Given the description of an element on the screen output the (x, y) to click on. 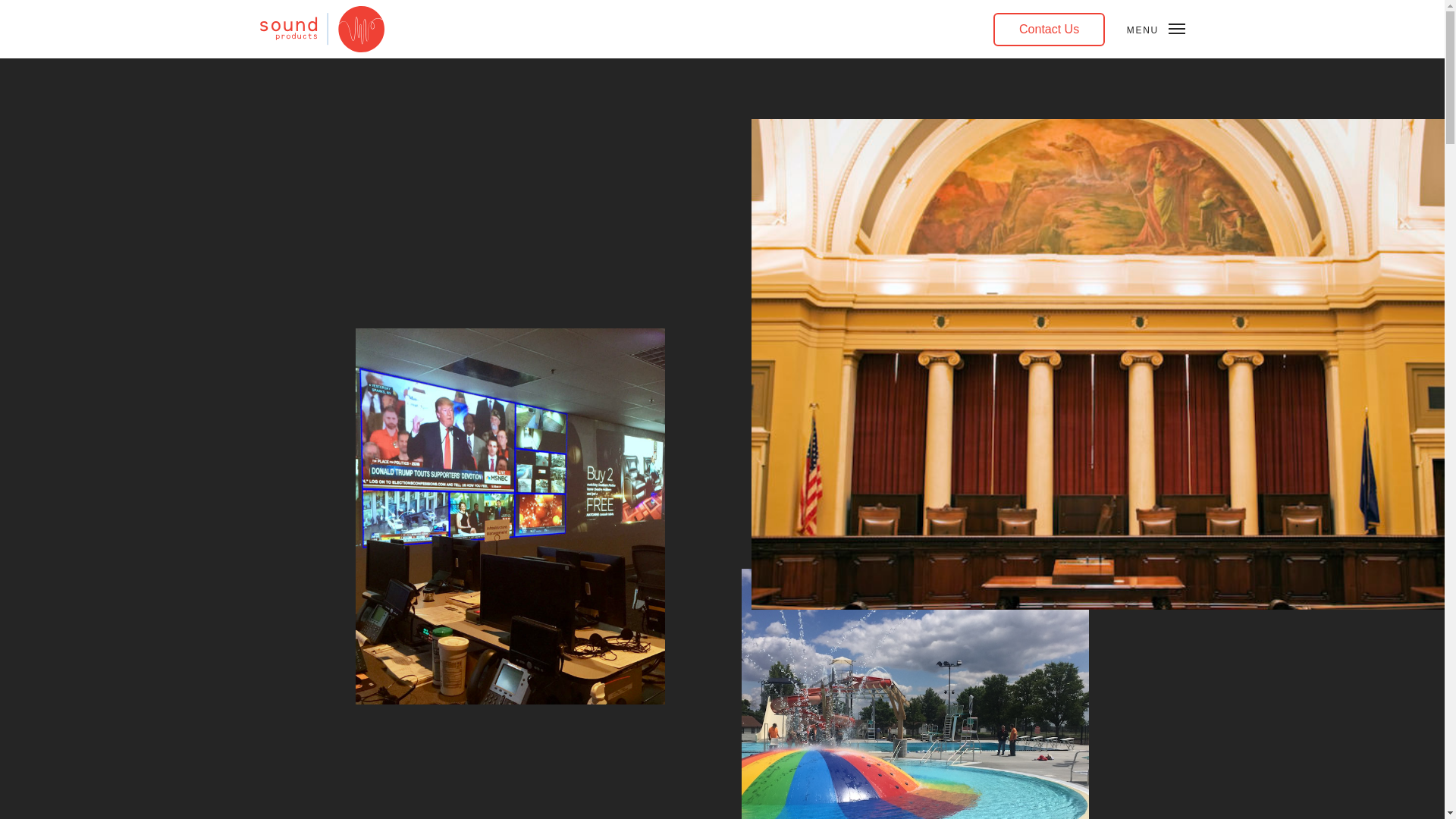
Contact Us (1048, 28)
MENU (1155, 30)
